Given the description of an element on the screen output the (x, y) to click on. 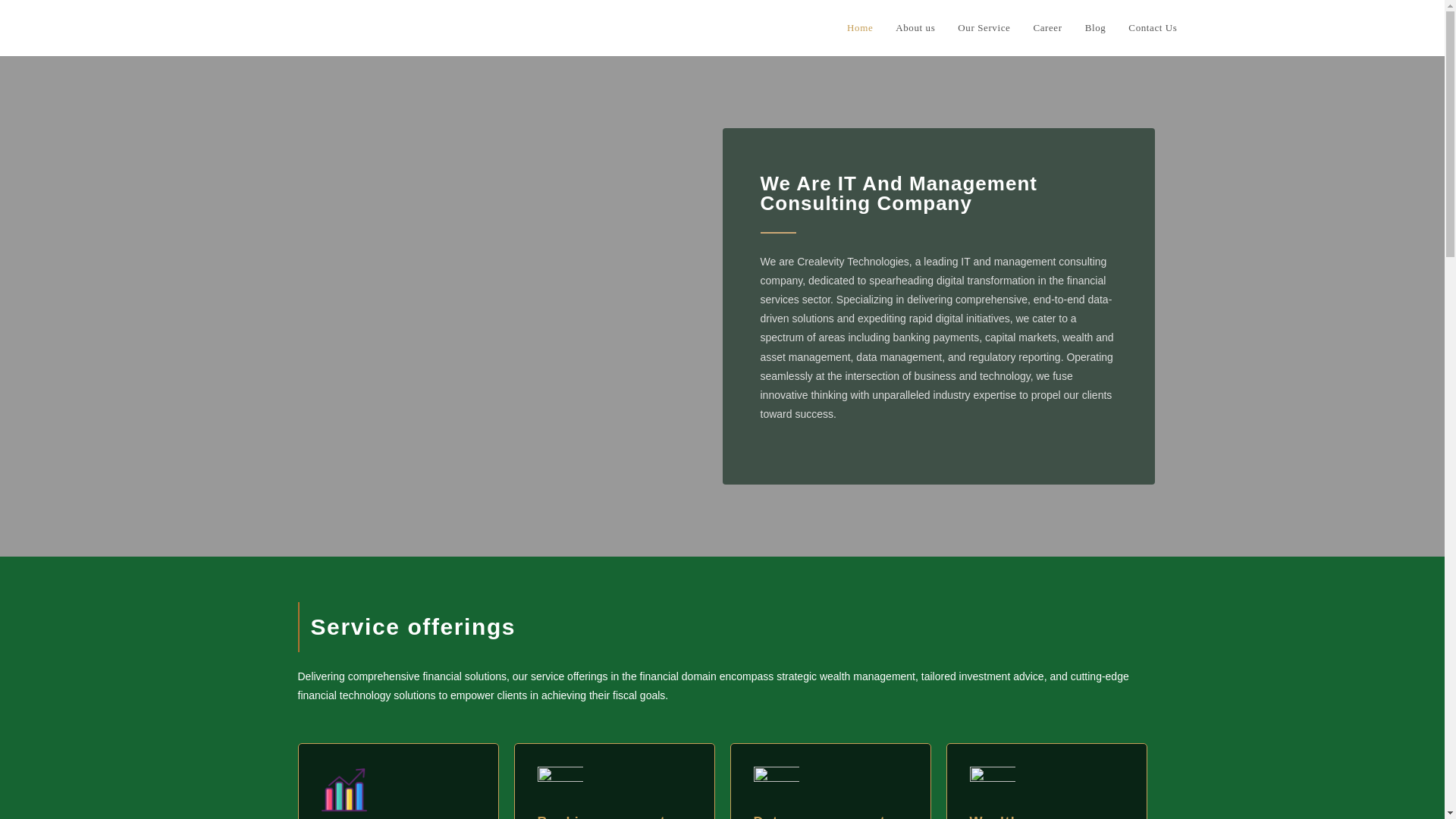
Crealevity (306, 27)
Our Service (984, 28)
About us (914, 28)
Contact Us (1152, 28)
Career (1047, 28)
Blog (1096, 28)
Home (859, 28)
